Given the description of an element on the screen output the (x, y) to click on. 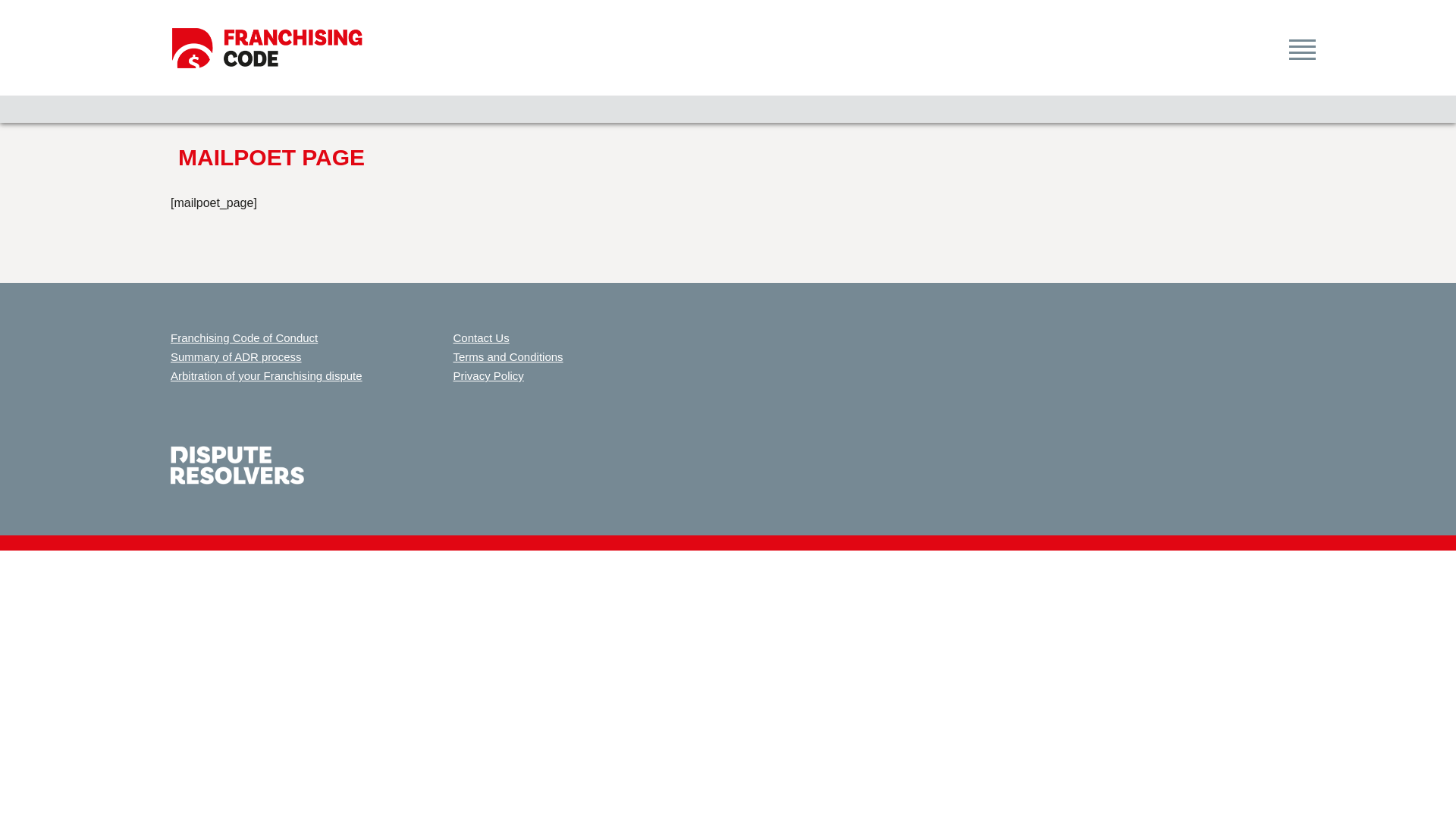
Summary of ADR process Element type: text (235, 356)
Franchising Code of Conduct Element type: text (243, 337)
Contact Us Element type: text (481, 337)
Privacy Policy Element type: text (488, 375)
Terms and Conditions Element type: text (508, 356)
Arbitration of your Franchising dispute Element type: text (266, 375)
